Given the description of an element on the screen output the (x, y) to click on. 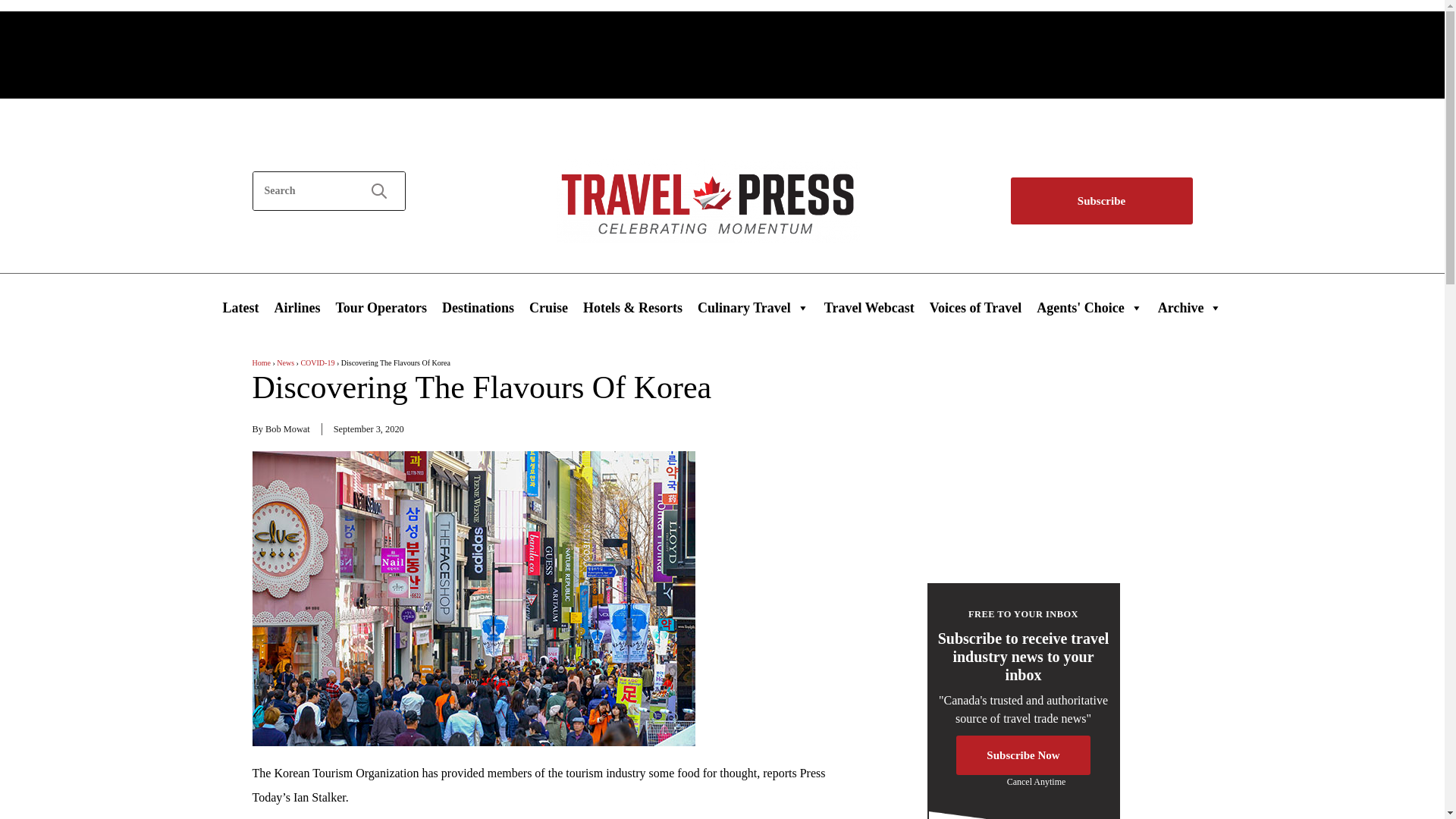
Tour Operators (380, 307)
COVID-19 (316, 362)
3rd party ad content (1021, 457)
Travel Webcast (868, 307)
Destinations (477, 307)
Agents' Choice (1089, 307)
Subscribe (1101, 201)
Archive (1190, 307)
Cruise (548, 307)
Airlines (297, 307)
Culinary Travel (753, 307)
Voices of Travel (975, 307)
Latest (240, 307)
3rd party ad content (722, 52)
Home (260, 362)
